Given the description of an element on the screen output the (x, y) to click on. 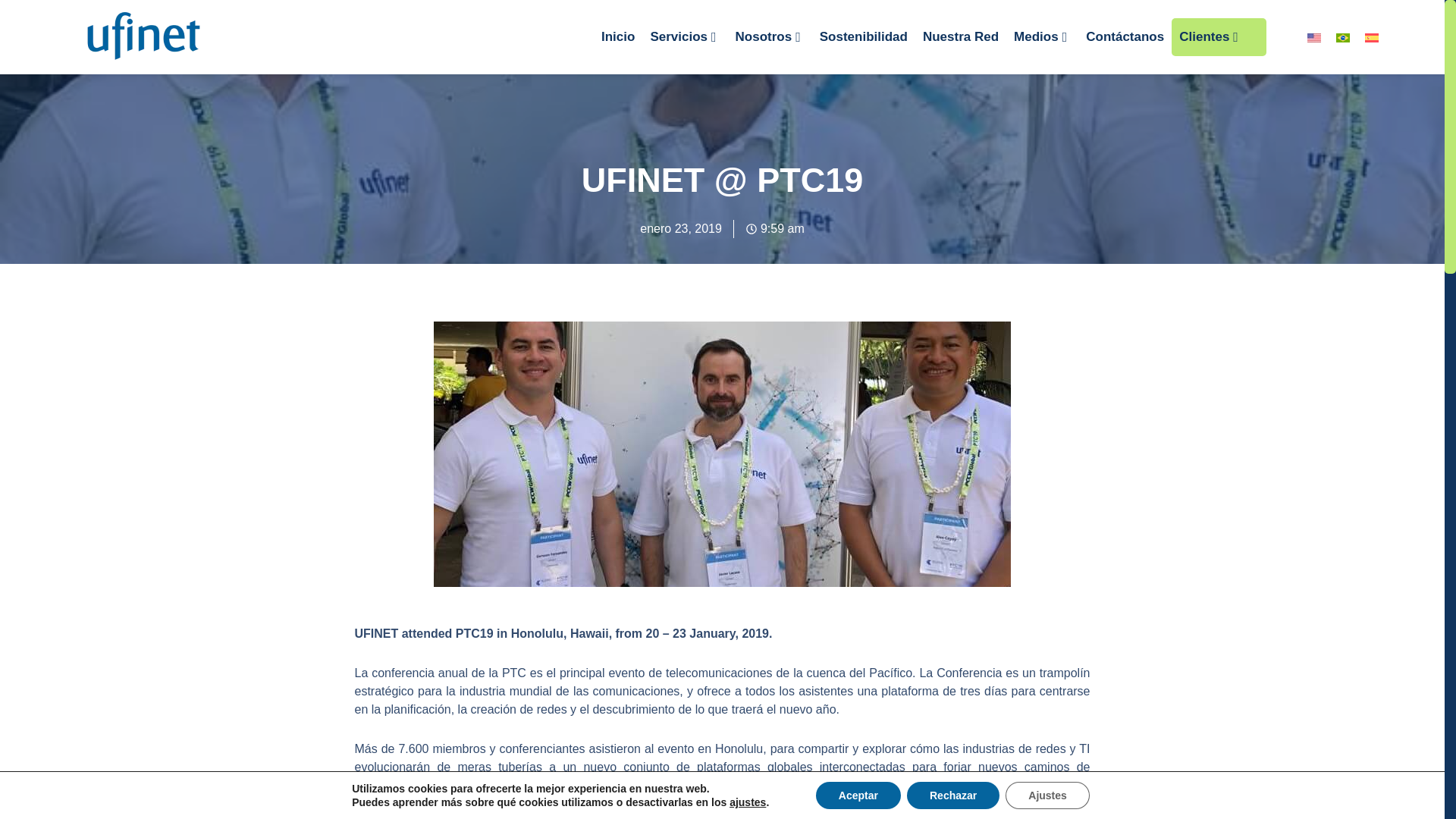
Inicio (618, 37)
Medios (1042, 37)
Nosotros (770, 37)
Nuestra Red (960, 37)
Sostenibilidad (863, 37)
Servicios (684, 37)
Clientes (1219, 37)
